Given the description of an element on the screen output the (x, y) to click on. 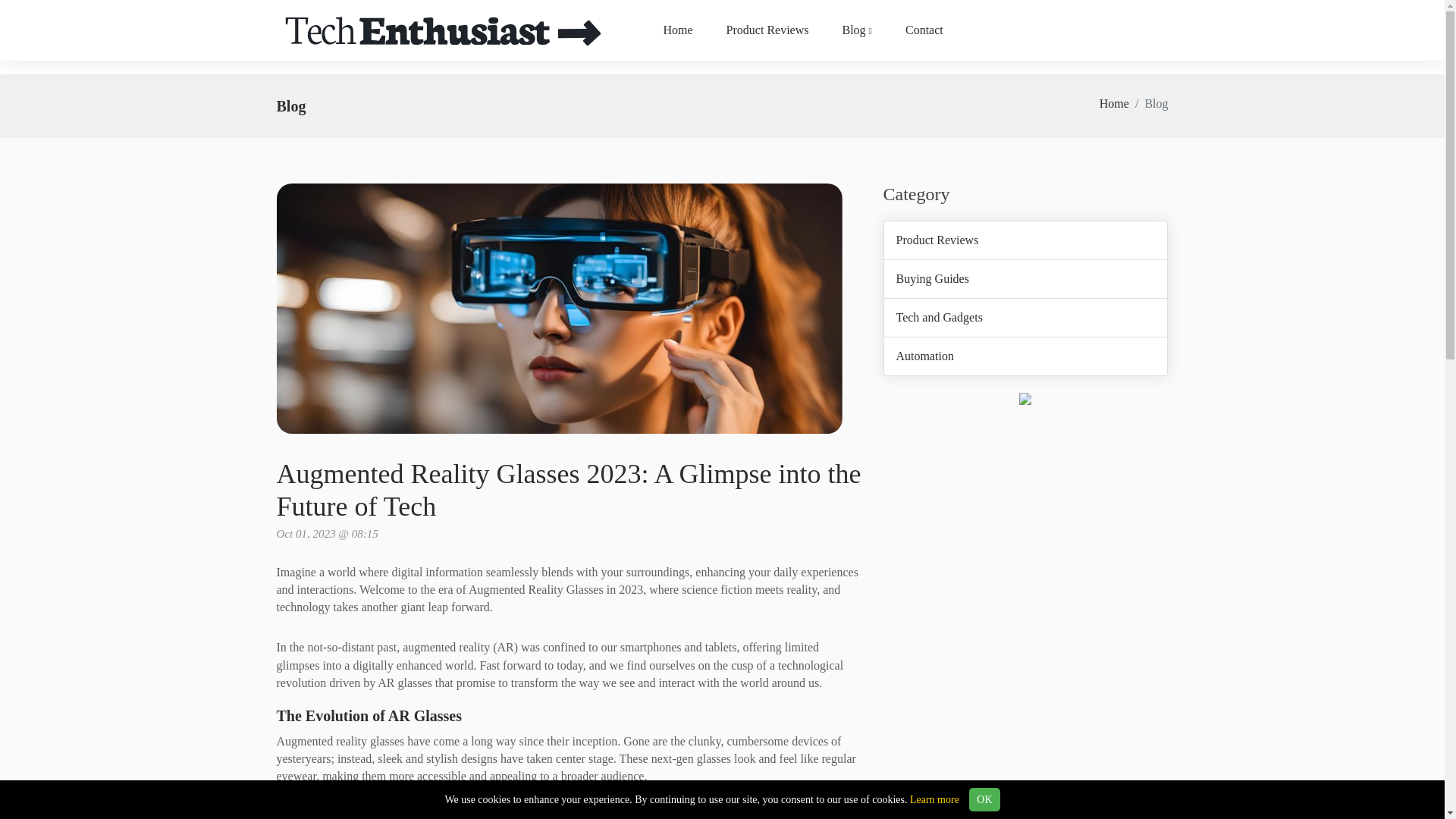
Home (1114, 103)
Automation (924, 356)
Learn more (934, 799)
Product Reviews (937, 240)
Product Reviews (767, 29)
Contact (923, 29)
Blog (856, 29)
Tech and Gadgets (939, 317)
OK (983, 799)
Home (677, 29)
Contact (923, 29)
Blog (856, 29)
Product Reviews (767, 29)
Home (677, 29)
